Given the description of an element on the screen output the (x, y) to click on. 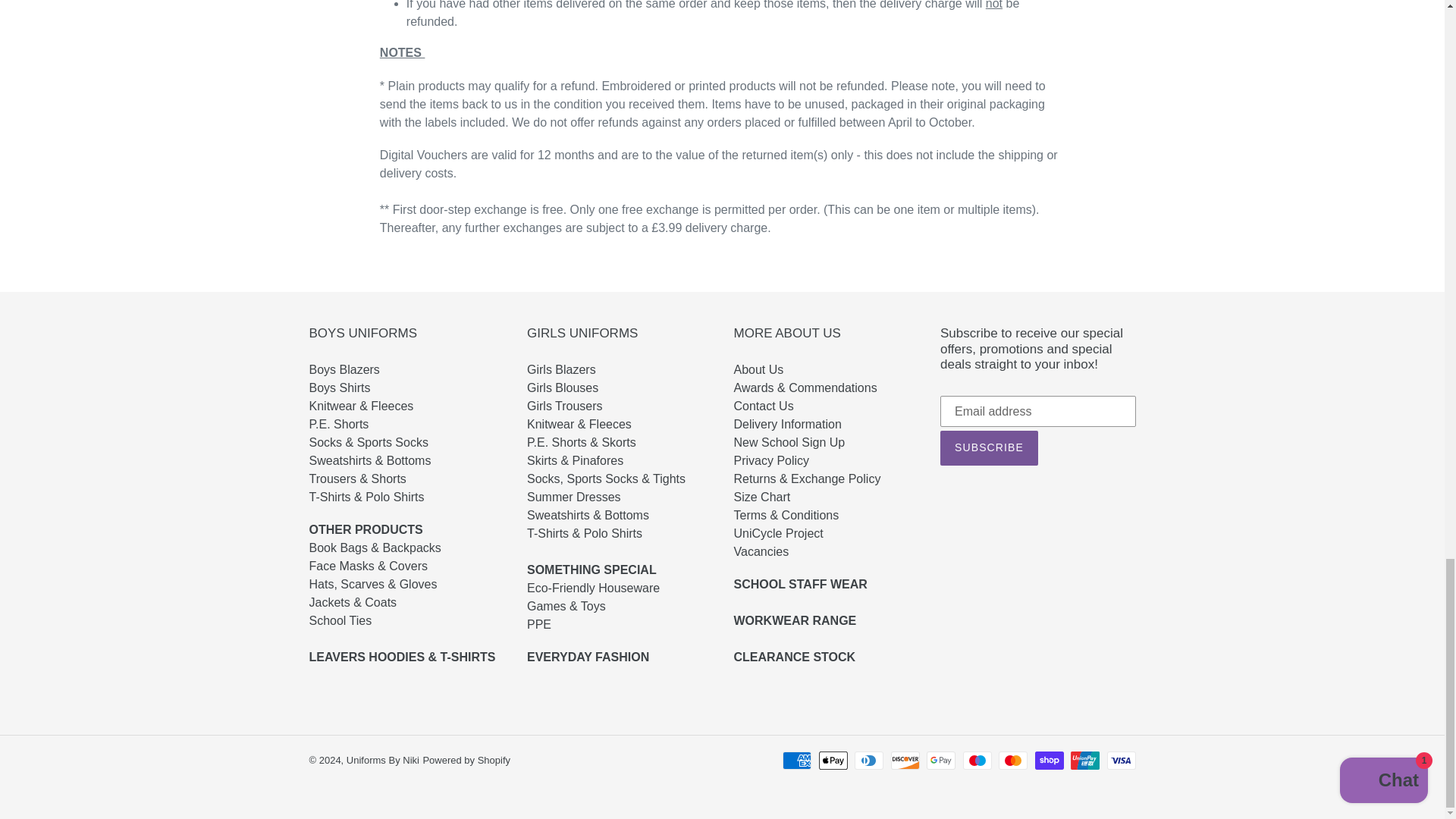
School Ties (352, 629)
